Given the description of an element on the screen output the (x, y) to click on. 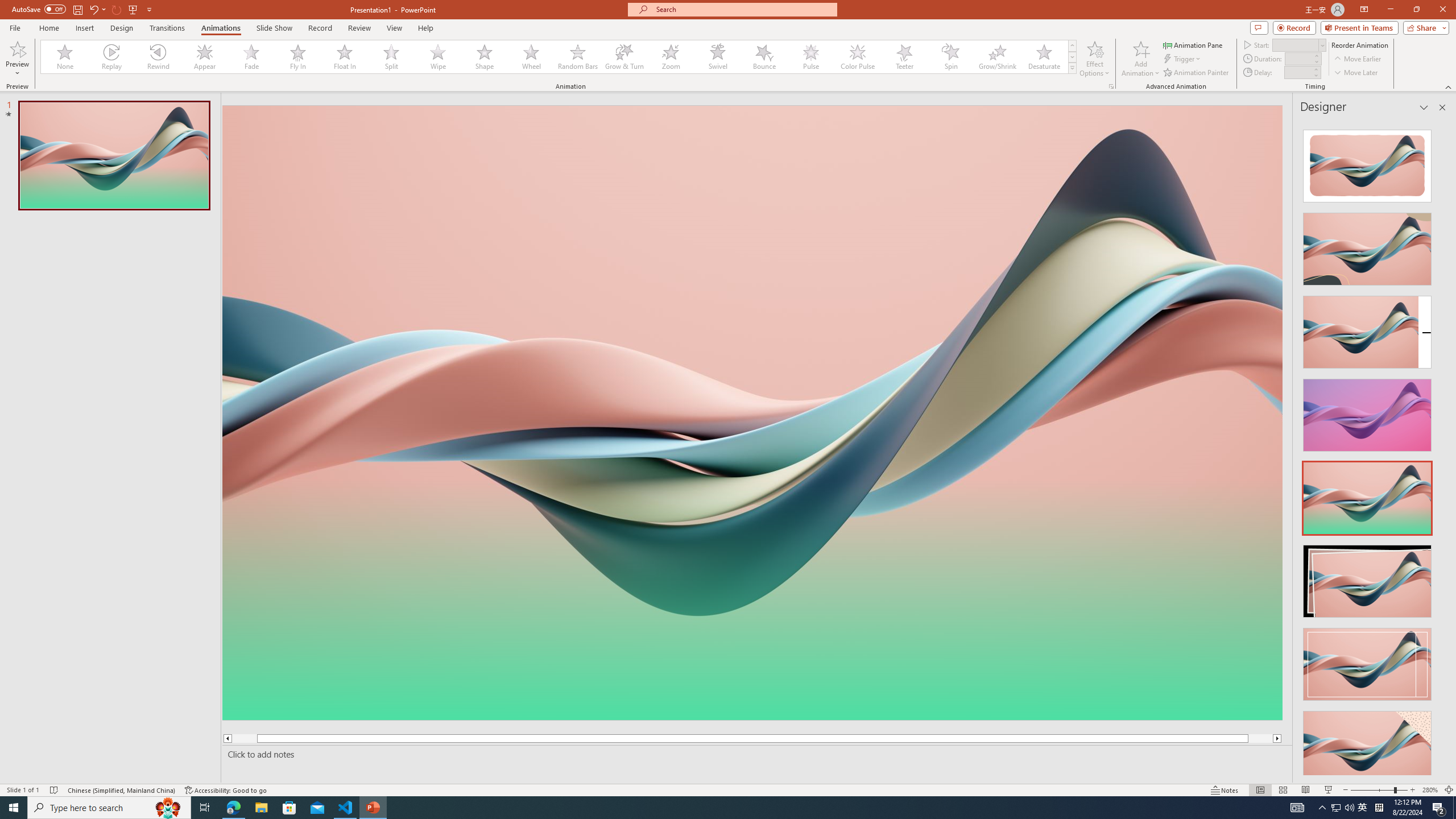
Move Earlier (1357, 58)
Teeter (903, 56)
Animation Pane (1193, 44)
Color Pulse (857, 56)
Split (391, 56)
Grow/Shrink (997, 56)
Float In (344, 56)
Random Bars (577, 56)
Pulse (810, 56)
Add Animation (1141, 58)
